Given the description of an element on the screen output the (x, y) to click on. 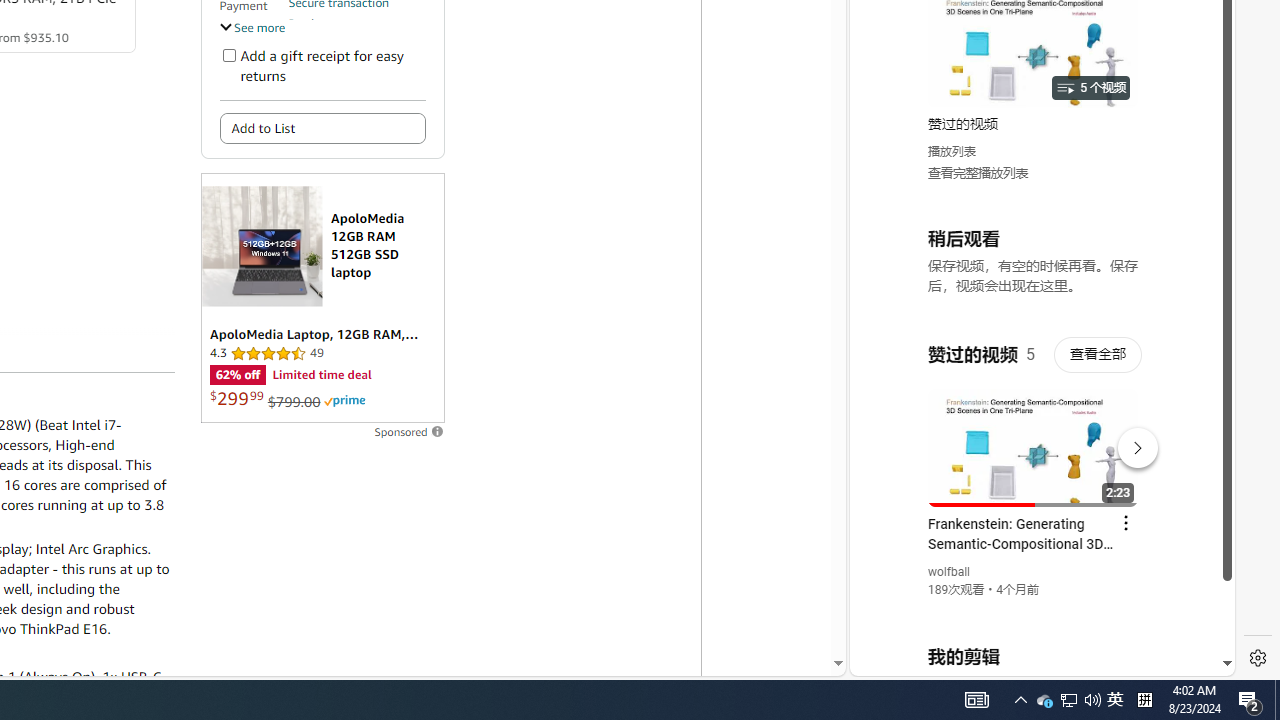
#you (1034, 439)
Click to scroll right (1196, 83)
Settings (1258, 658)
YouTube (1034, 432)
Actions for this site (1131, 443)
you (1034, 609)
US[ju] (917, 660)
YouTube - YouTube (1034, 266)
